Given the description of an element on the screen output the (x, y) to click on. 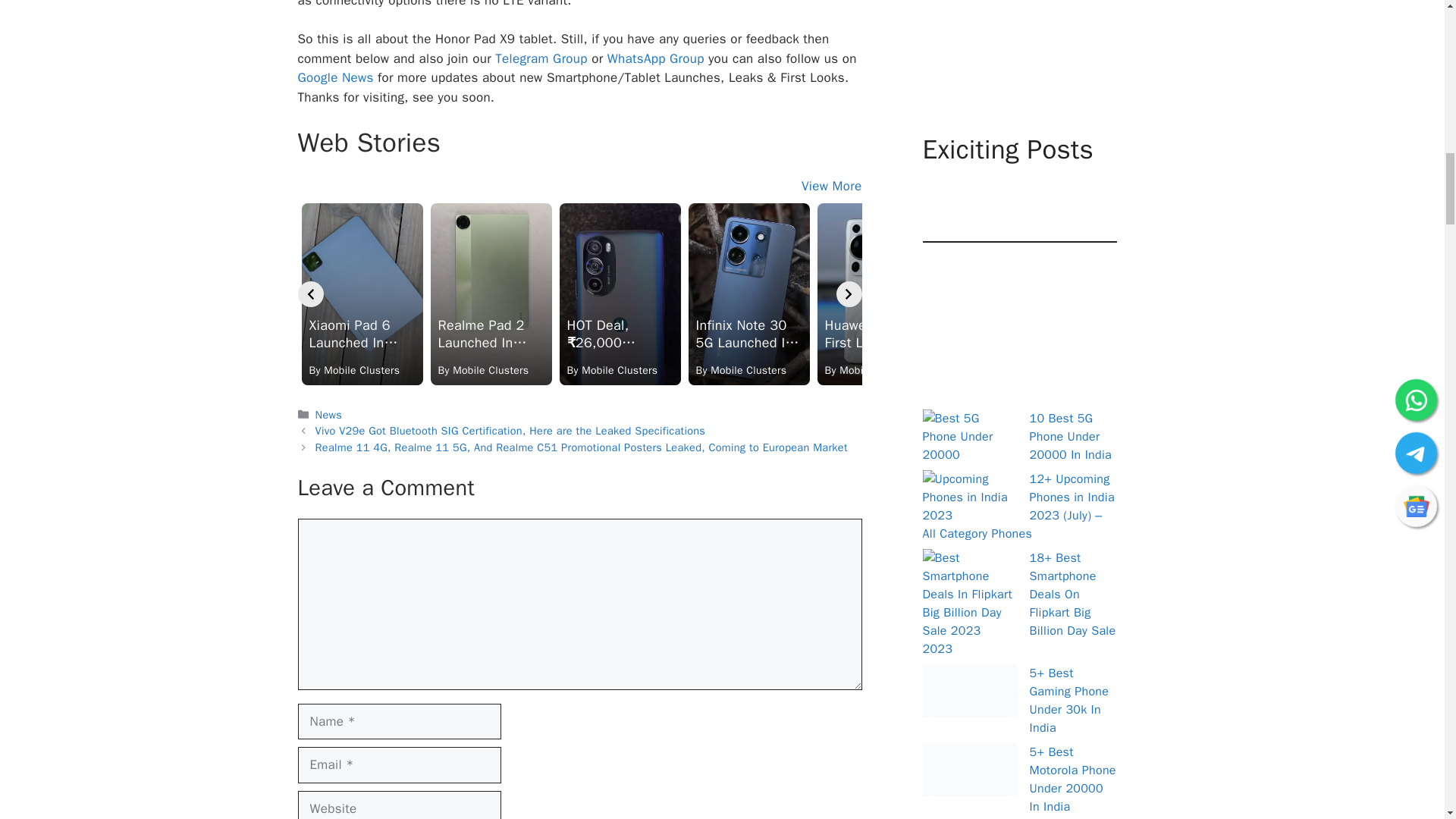
WhatsApp Group (655, 58)
View More (831, 186)
Google News (334, 77)
News (328, 414)
Telegram Group (540, 58)
